Given the description of an element on the screen output the (x, y) to click on. 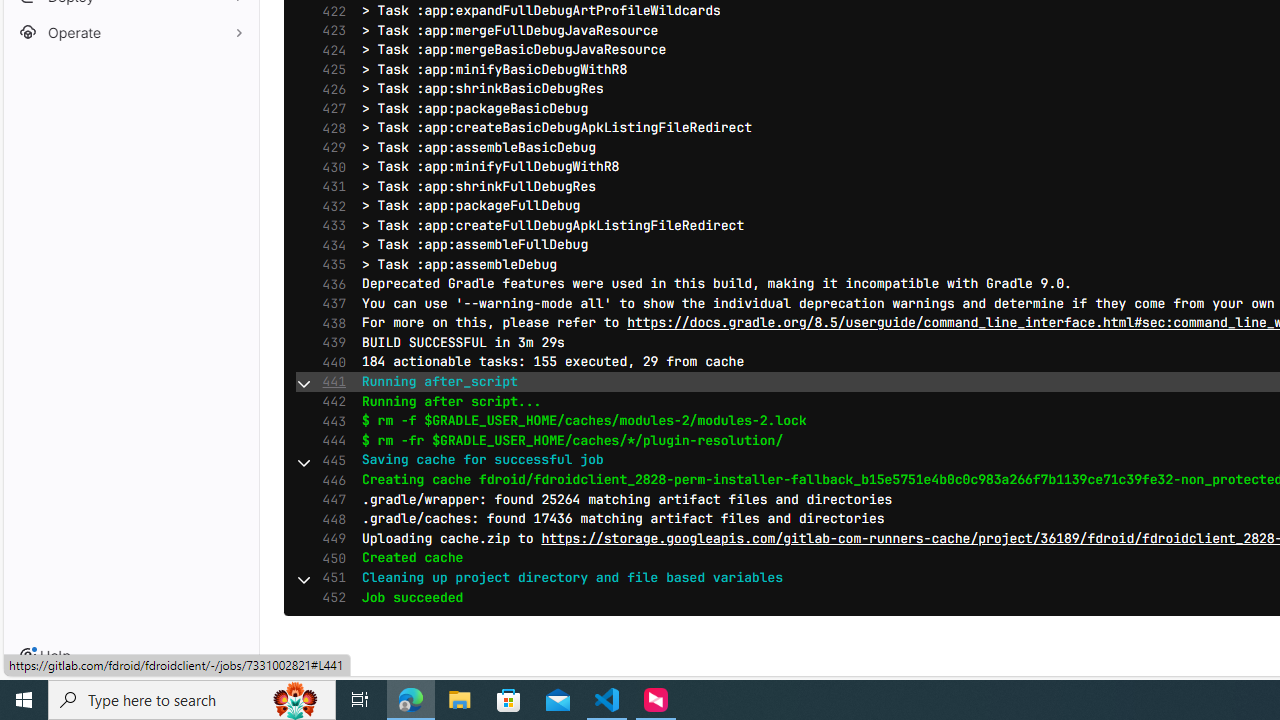
441 (329, 381)
440 (329, 362)
422 (329, 11)
452 (329, 597)
428 (329, 128)
430 (329, 166)
439 (329, 342)
Operate (130, 31)
431 (329, 187)
436 (329, 284)
448 (329, 519)
433 (329, 226)
449 (329, 538)
444 (329, 440)
446 (329, 480)
